Given the description of an element on the screen output the (x, y) to click on. 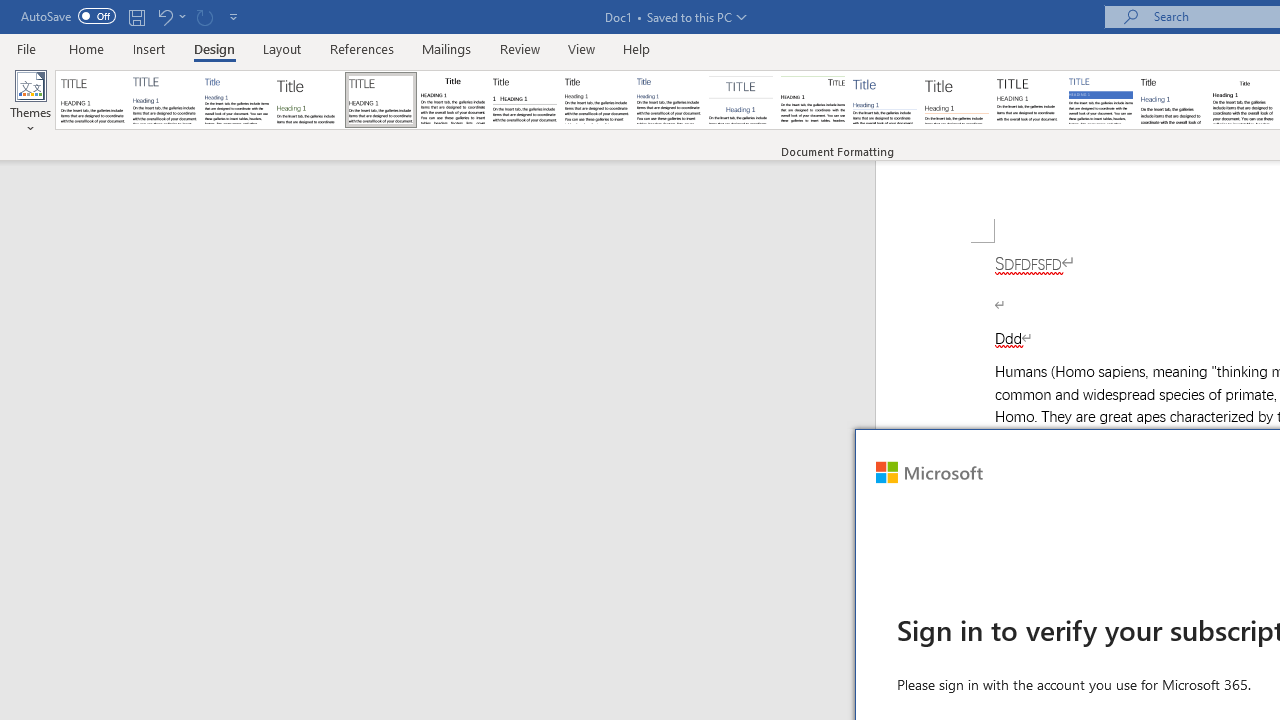
Basic (Elegant) (164, 100)
Black & White (Classic) (452, 100)
Themes (30, 102)
Undo Apply Quick Style Set (170, 15)
Black & White (Numbered) (524, 100)
Lines (Stylish) (957, 100)
Shaded (1100, 100)
